Given the description of an element on the screen output the (x, y) to click on. 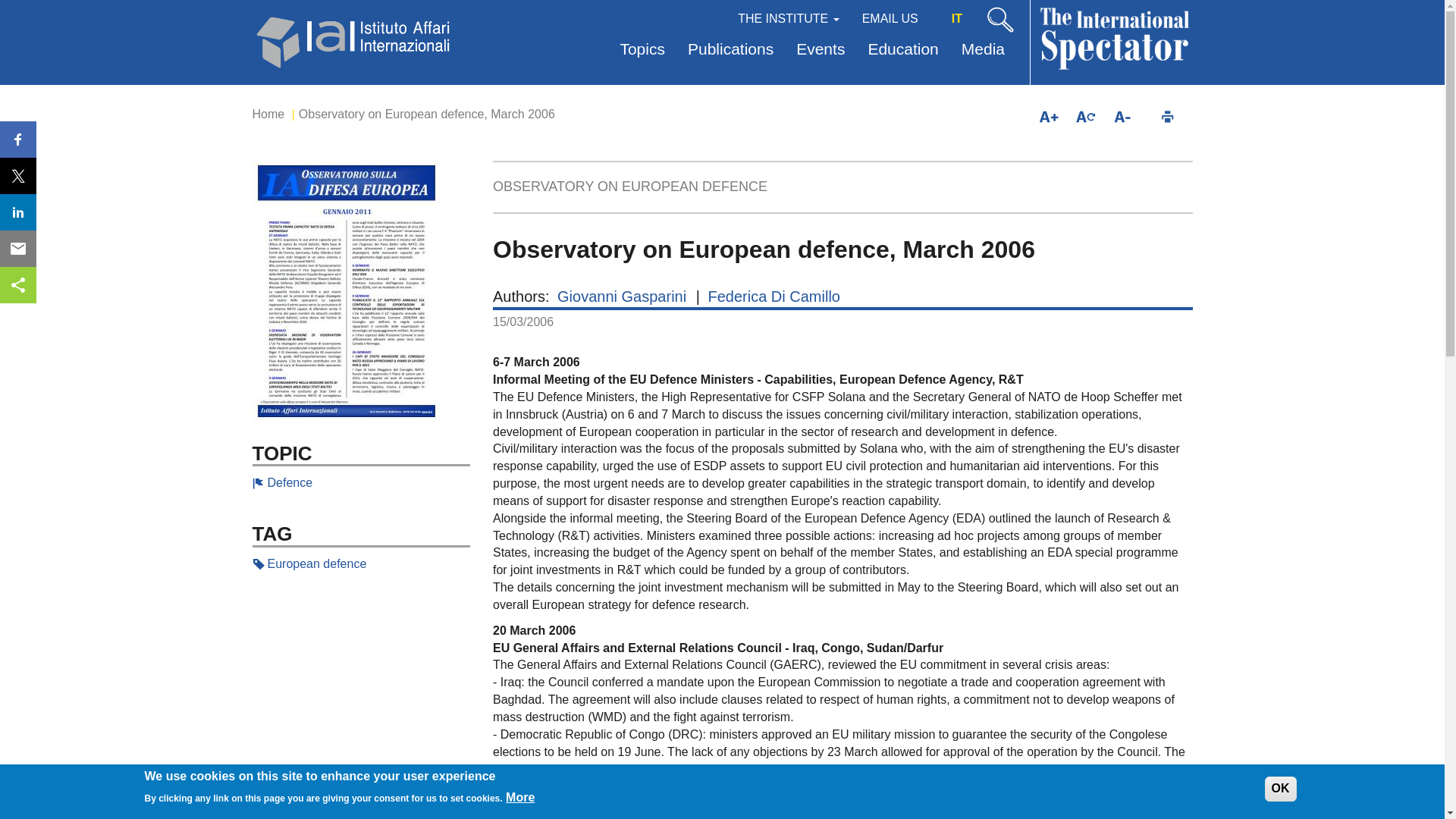
Home (267, 113)
Topics (642, 49)
Education (902, 49)
Publications (730, 49)
go to Home page (354, 38)
Events (820, 49)
EMAIL US (890, 16)
Media (983, 49)
IT (956, 18)
THE INSTITUTE (788, 16)
